Given the description of an element on the screen output the (x, y) to click on. 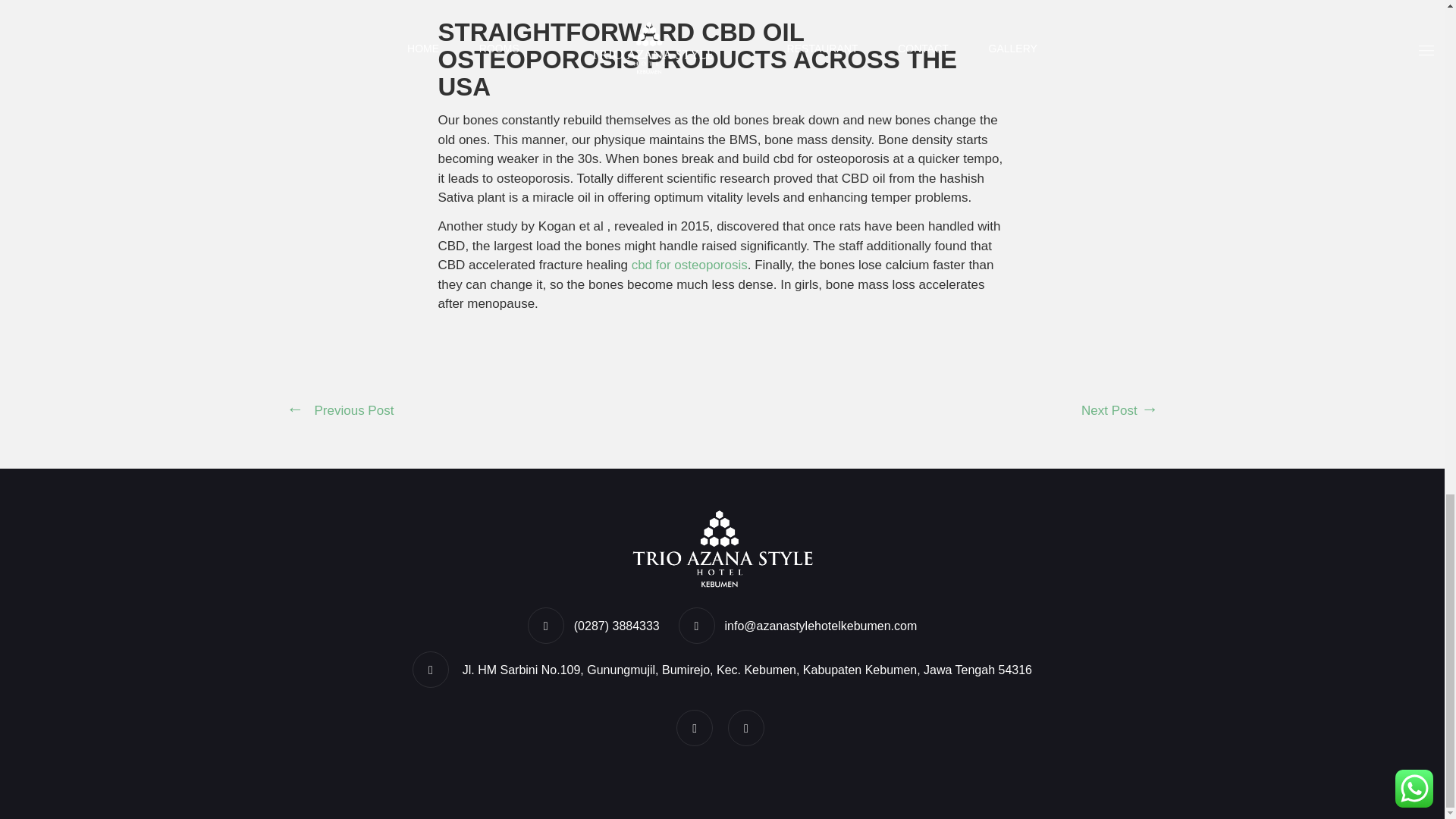
Facebook (696, 728)
cbd for osteoporosis (689, 264)
Instagram (747, 728)
